Given the description of an element on the screen output the (x, y) to click on. 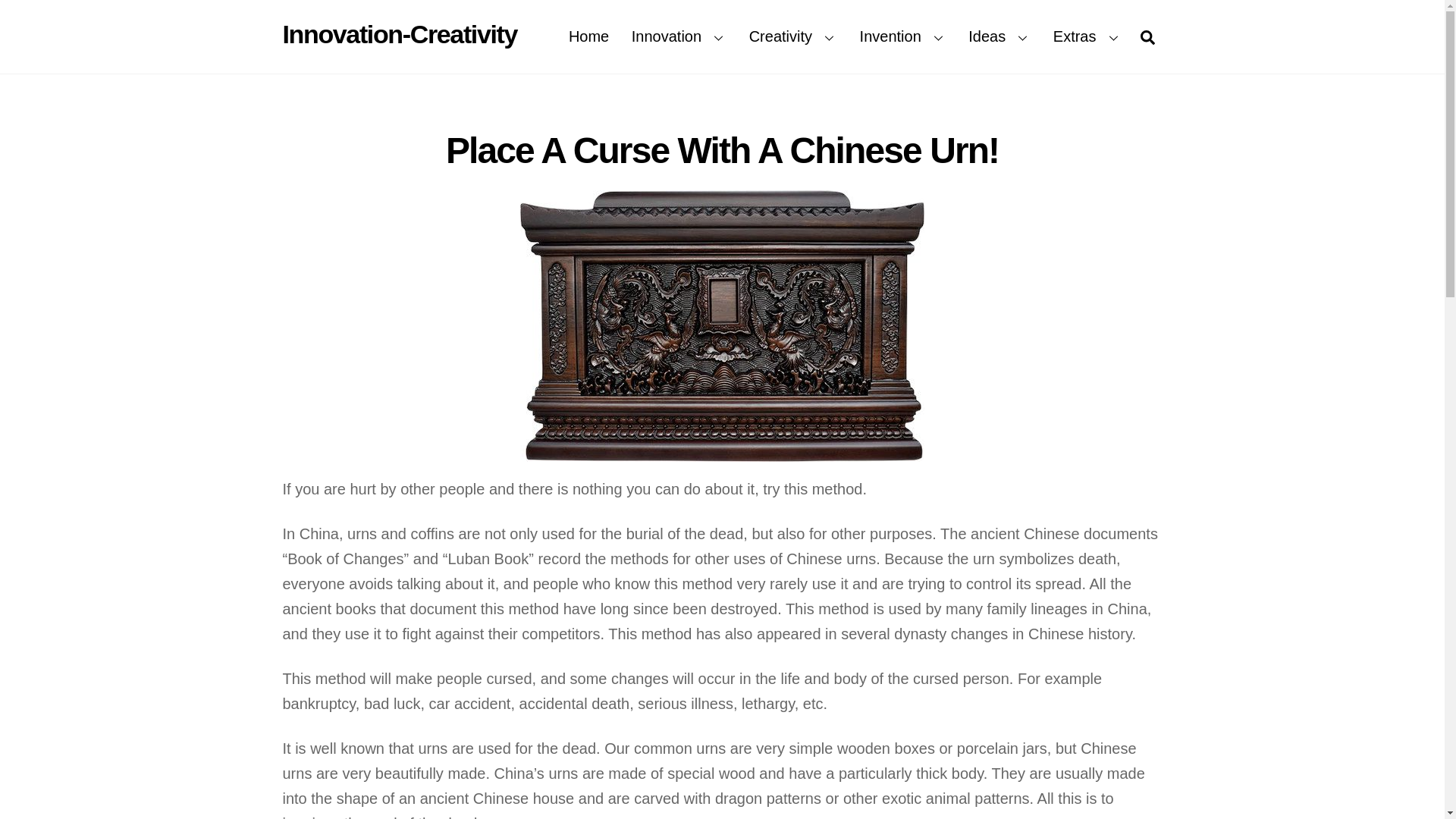
Innovation-Creativity (399, 33)
Innovation (679, 36)
01 (721, 36)
Search (721, 325)
Innovation-Creativity (1146, 36)
Home (399, 33)
Creativity (588, 36)
